Given the description of an element on the screen output the (x, y) to click on. 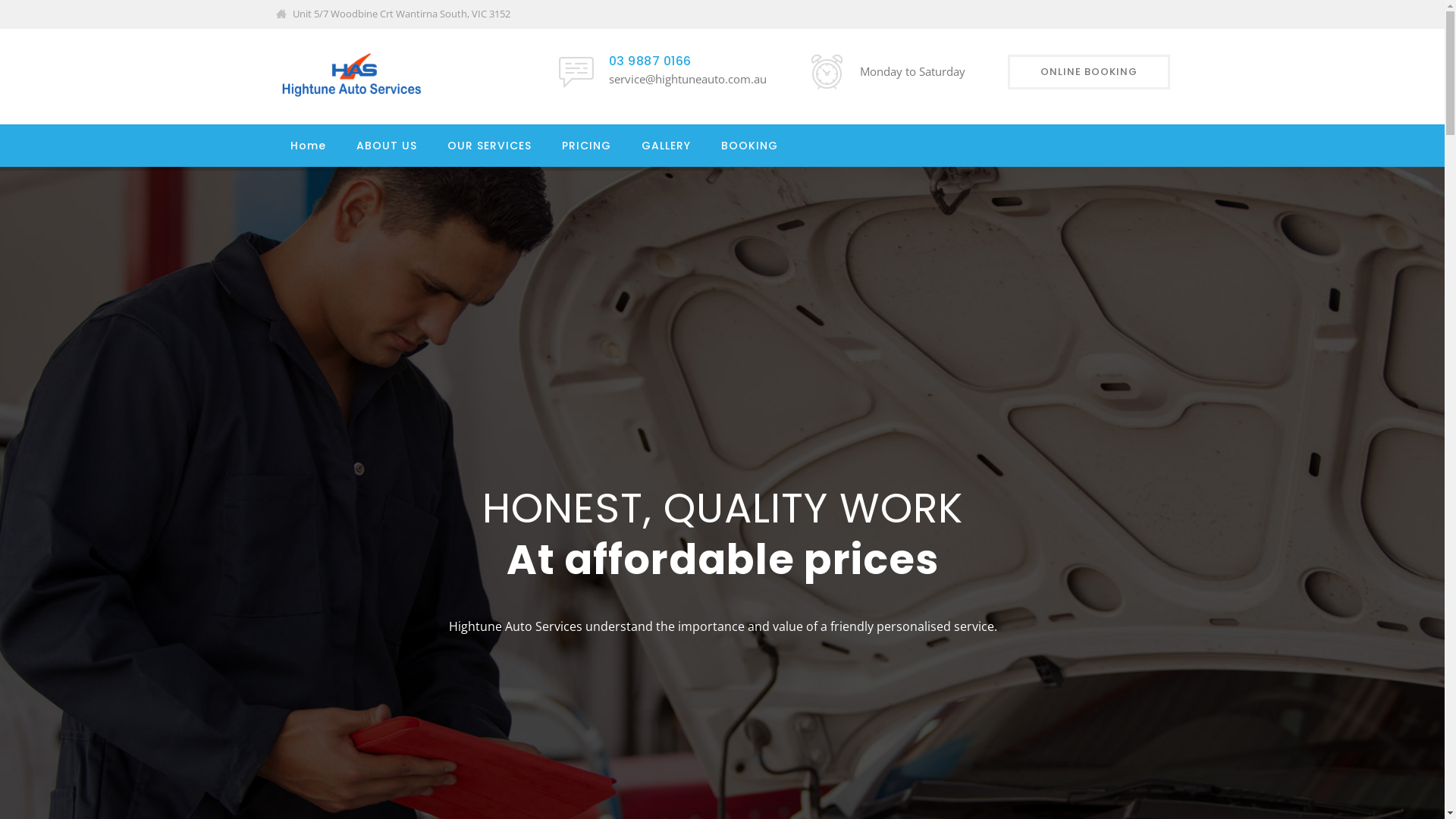
Hightune Auto Services Element type: hover (350, 76)
ONLINE BOOKING Element type: text (1088, 71)
BOOKING Element type: text (748, 145)
ABOUT US Element type: text (386, 145)
PRICING Element type: text (585, 145)
Home Element type: text (307, 145)
OUR SERVICES Element type: text (489, 145)
GALLERY Element type: text (665, 145)
